Given the description of an element on the screen output the (x, y) to click on. 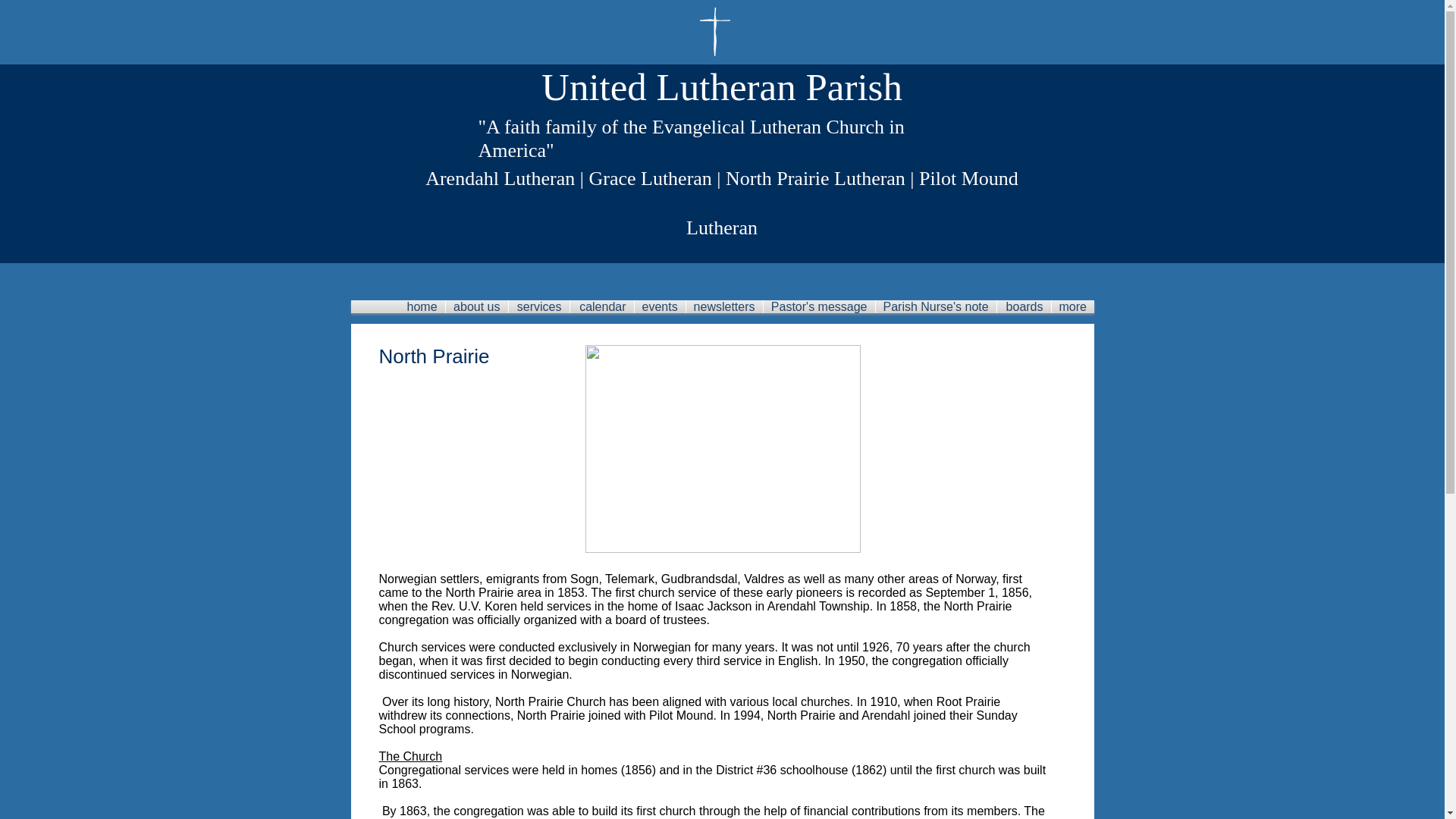
newsletters (723, 306)
United Lutheran Parish (721, 87)
home (421, 306)
services (538, 306)
